Given the description of an element on the screen output the (x, y) to click on. 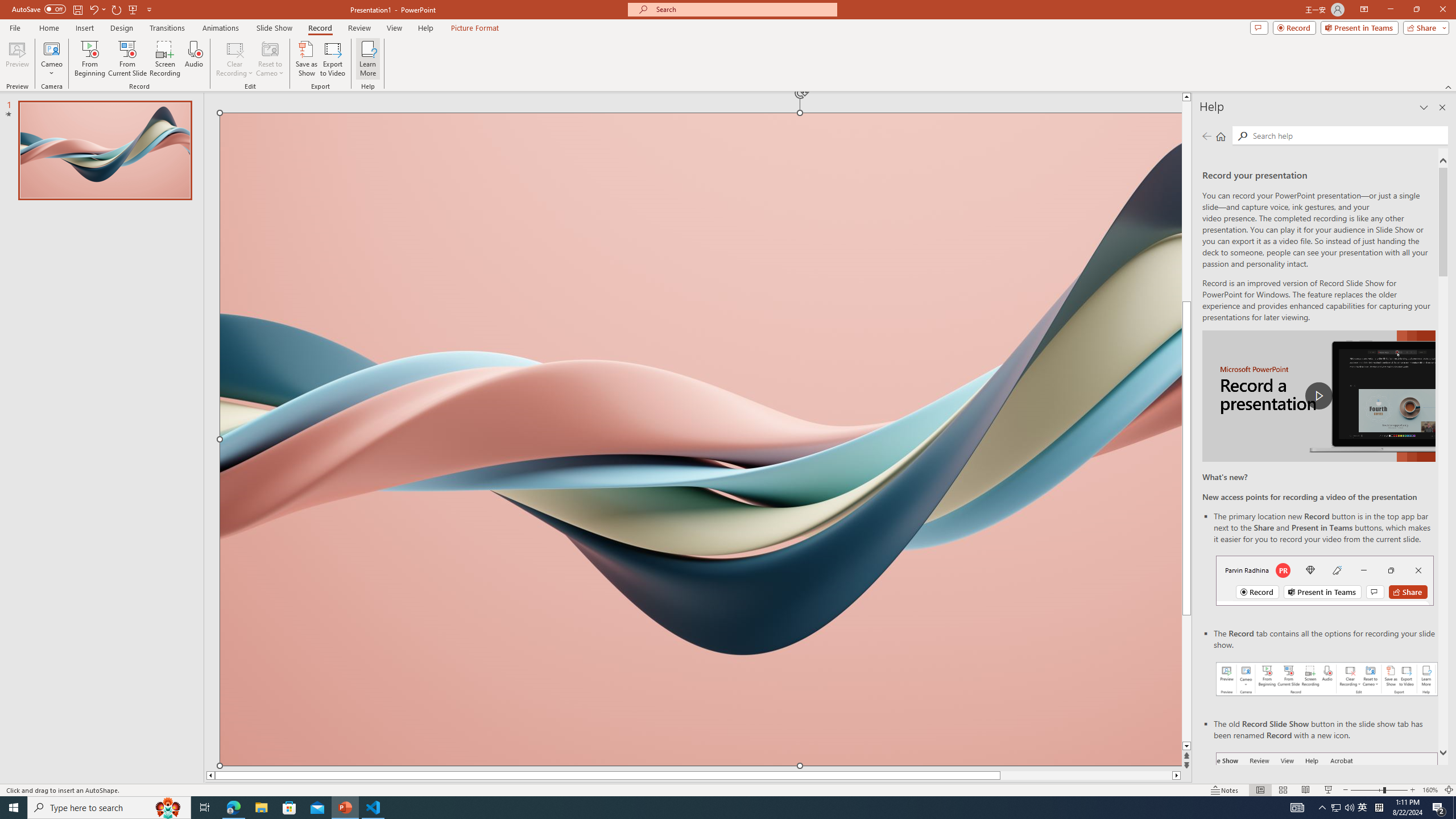
Cameo (51, 48)
Save as Show (306, 58)
Record button in top bar (1324, 580)
Cameo (51, 58)
Reading View (1305, 790)
More Options (51, 68)
Redo (117, 9)
Line up (1186, 96)
Screen Recording (165, 58)
Audio (193, 58)
From Current Slide... (127, 58)
Preview (17, 58)
Microsoft search (742, 9)
